Given the description of an element on the screen output the (x, y) to click on. 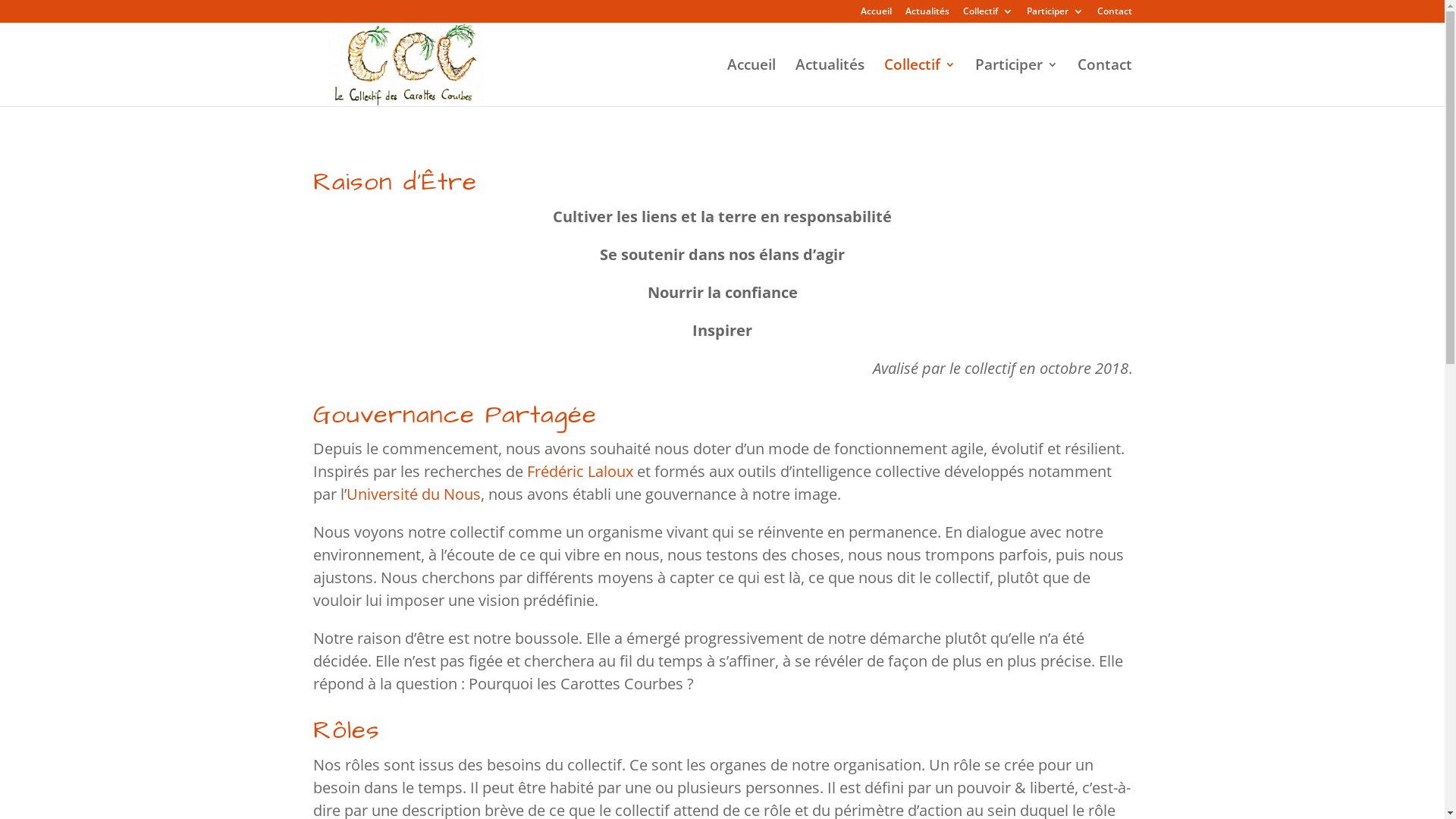
Participer Element type: text (1054, 14)
Contact Element type: text (1113, 14)
Contact Element type: text (1103, 82)
Collectif Element type: text (919, 82)
Collectif Element type: text (988, 14)
Accueil Element type: text (875, 14)
Participer Element type: text (1016, 82)
Accueil Element type: text (750, 82)
